Given the description of an element on the screen output the (x, y) to click on. 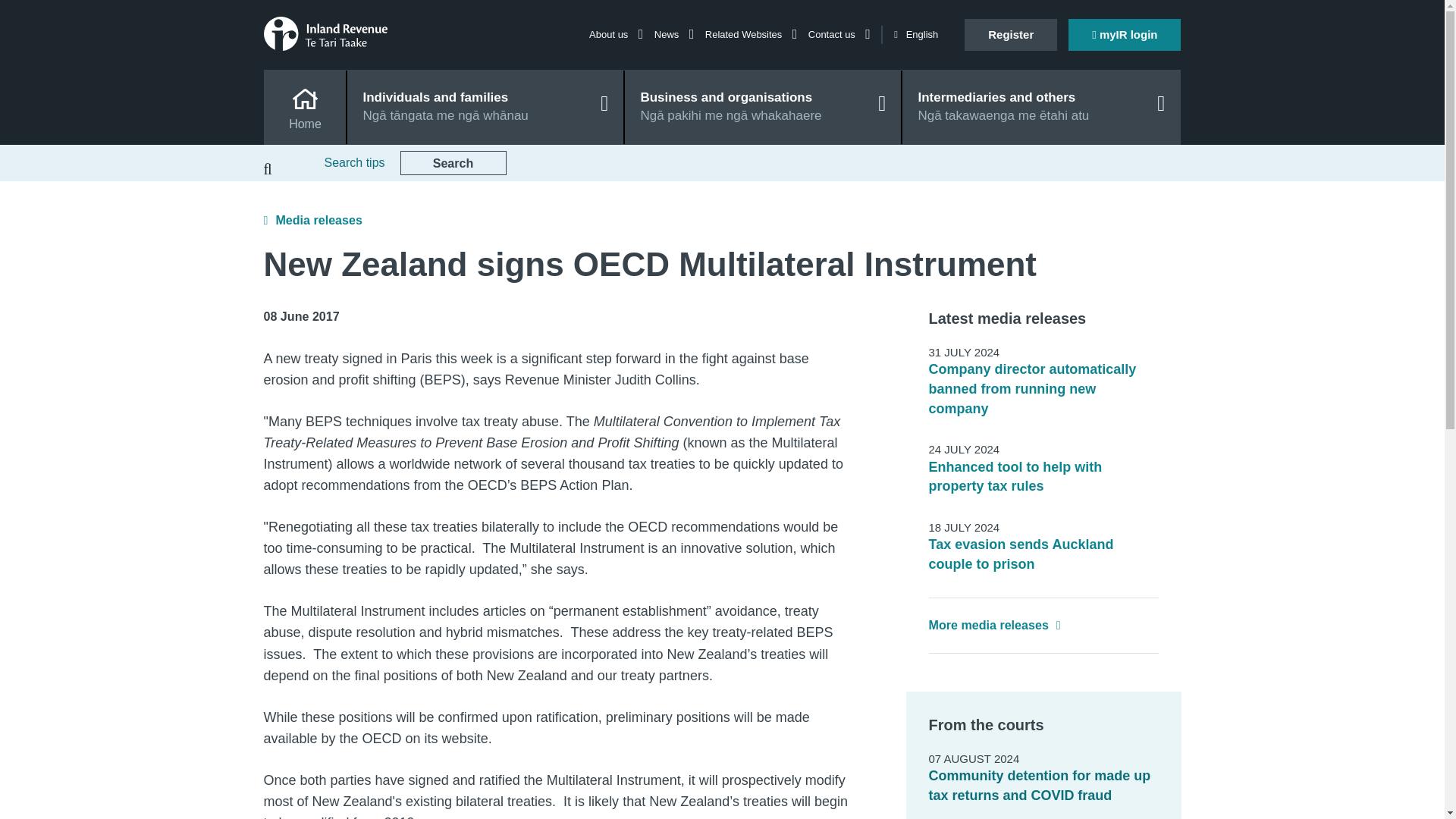
Register (1010, 34)
Contact us (839, 34)
Related Websites (750, 34)
English (914, 34)
myIR login (1124, 34)
News (673, 34)
About us (616, 34)
